Given the description of an element on the screen output the (x, y) to click on. 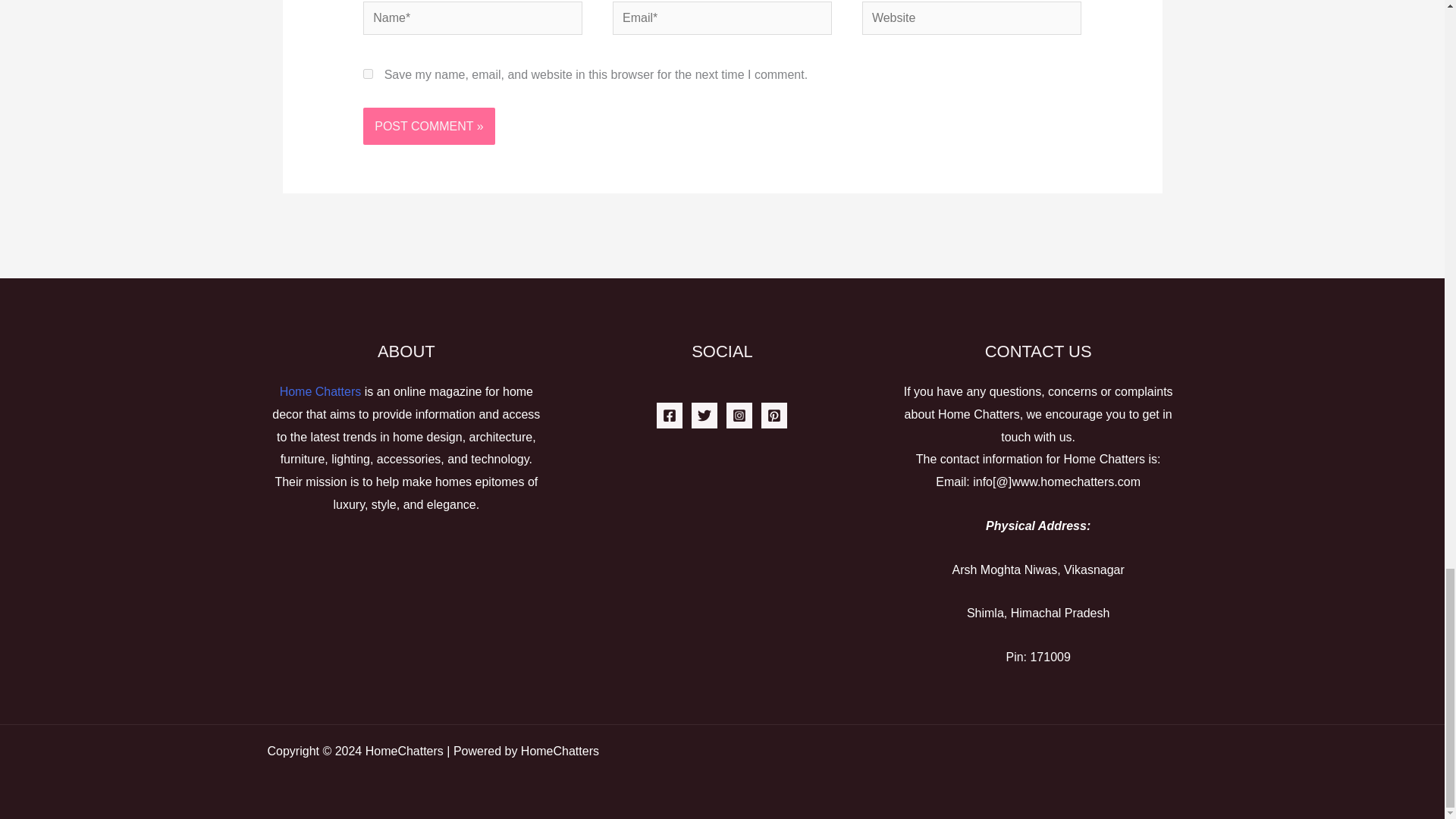
yes (367, 73)
Home Chatters (320, 391)
